Given the description of an element on the screen output the (x, y) to click on. 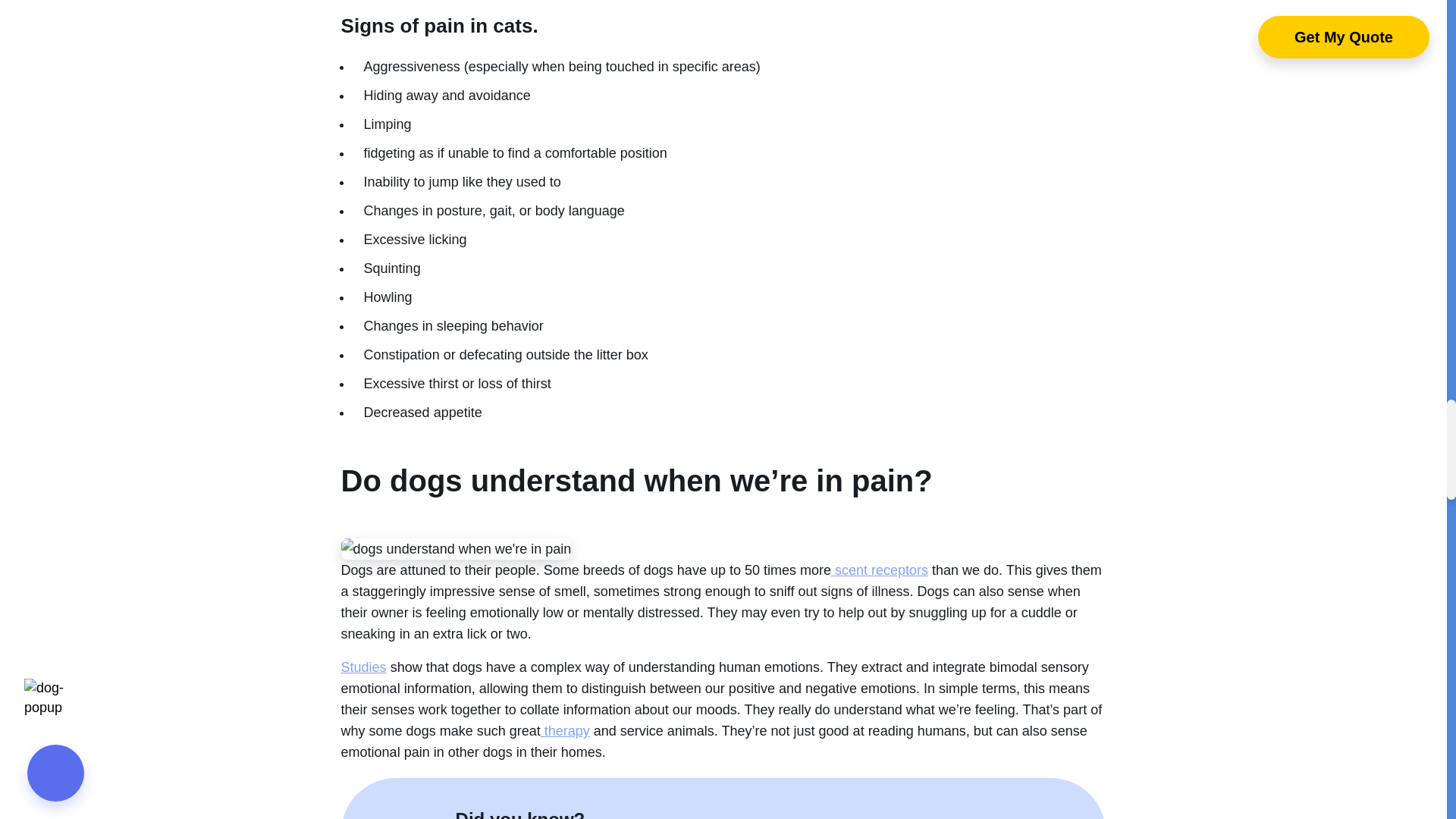
therapy (564, 730)
Studies (363, 667)
scent receptors (879, 570)
